Given the description of an element on the screen output the (x, y) to click on. 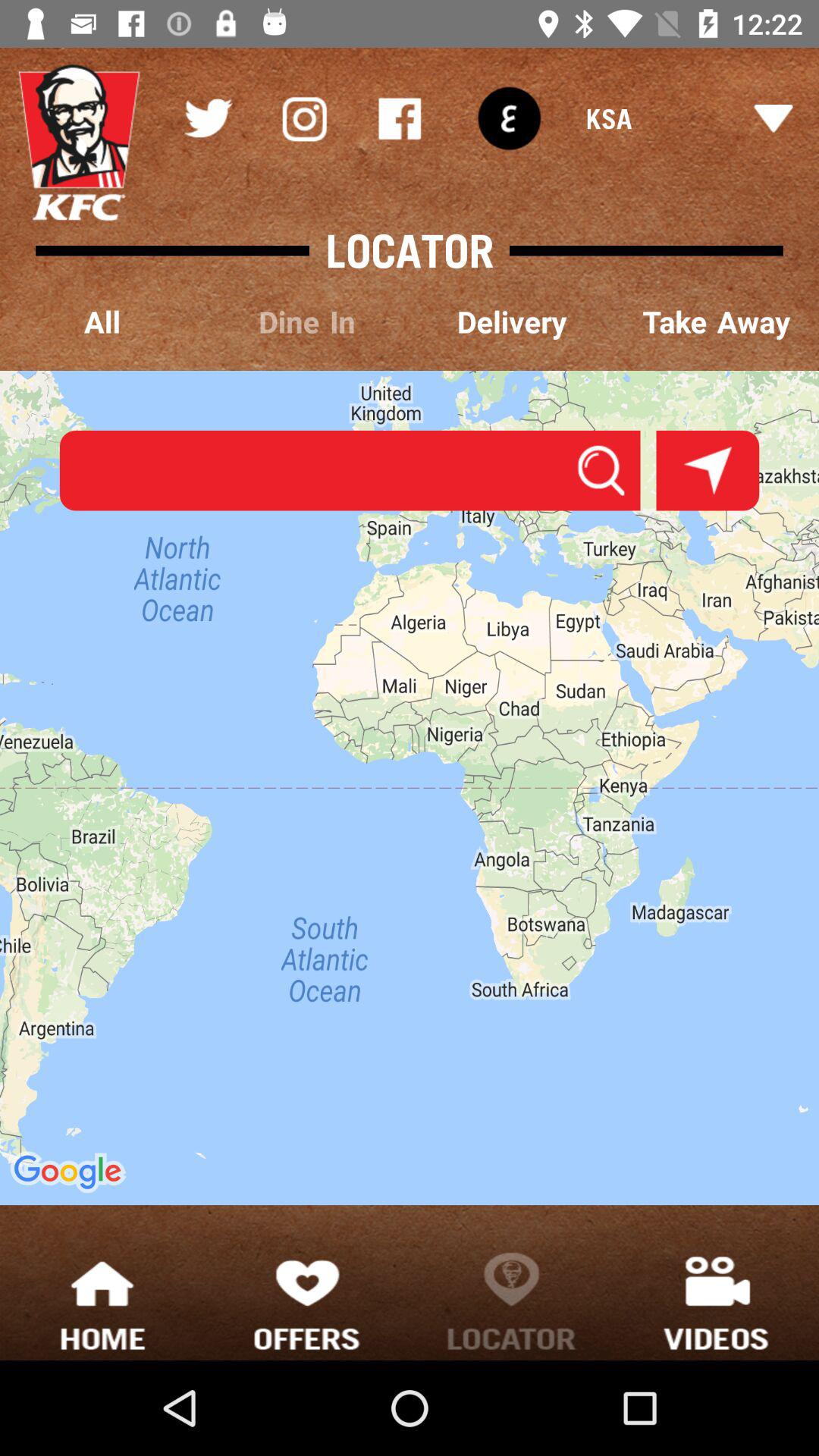
click ksa (688, 118)
